Given the description of an element on the screen output the (x, y) to click on. 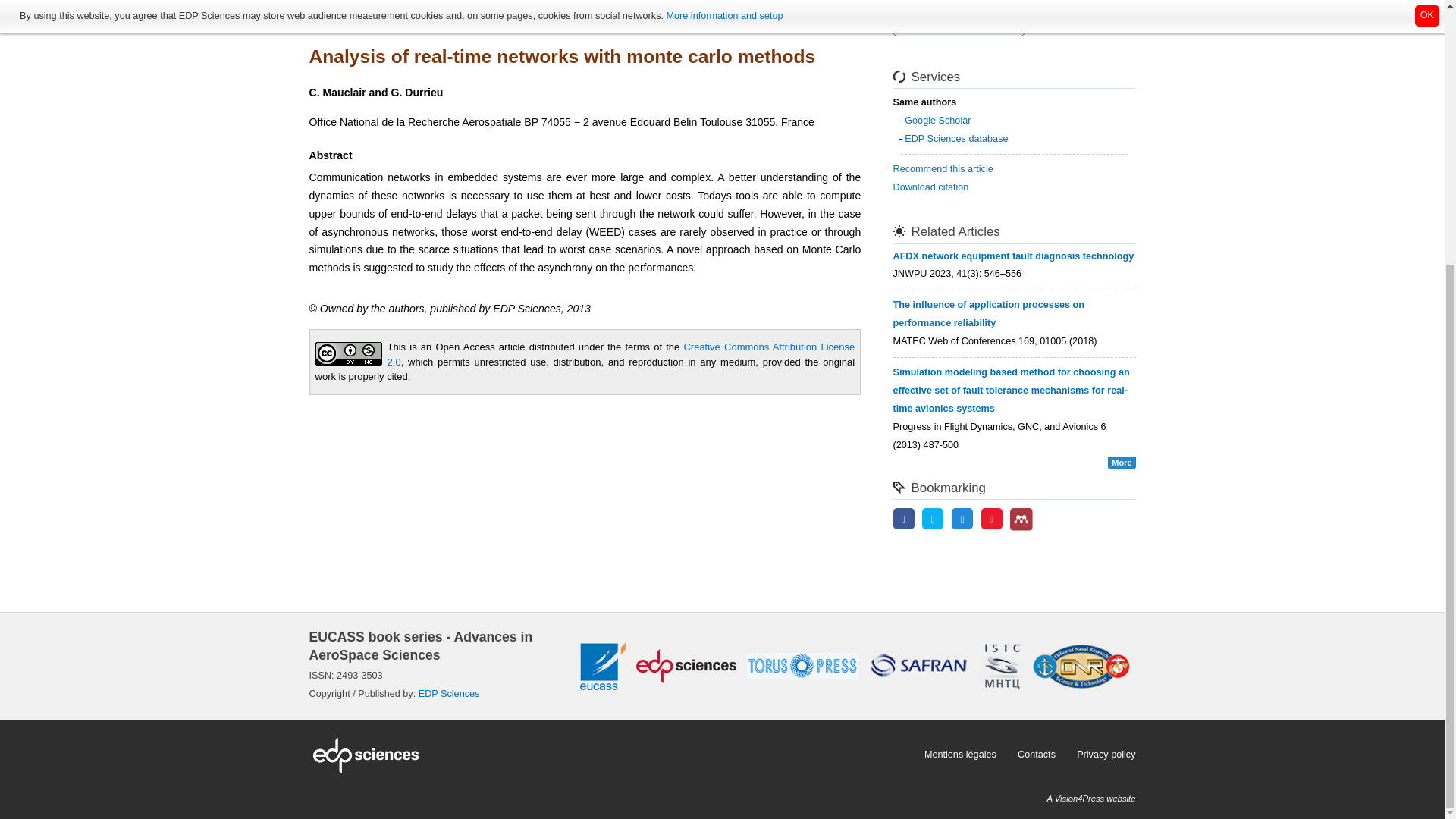
Mendeley (1021, 518)
Article abstracts available on the Astrophysics Data System (959, 26)
Share on LinkedIn (962, 520)
Share on Facebook (903, 520)
EDP Sciences website (611, 754)
Creative Commons Attribution License 2.0 (621, 354)
Share on Twitter (932, 520)
Share on Sina Weibo (992, 520)
Add this article to your Mendeley library (1021, 527)
